Given the description of an element on the screen output the (x, y) to click on. 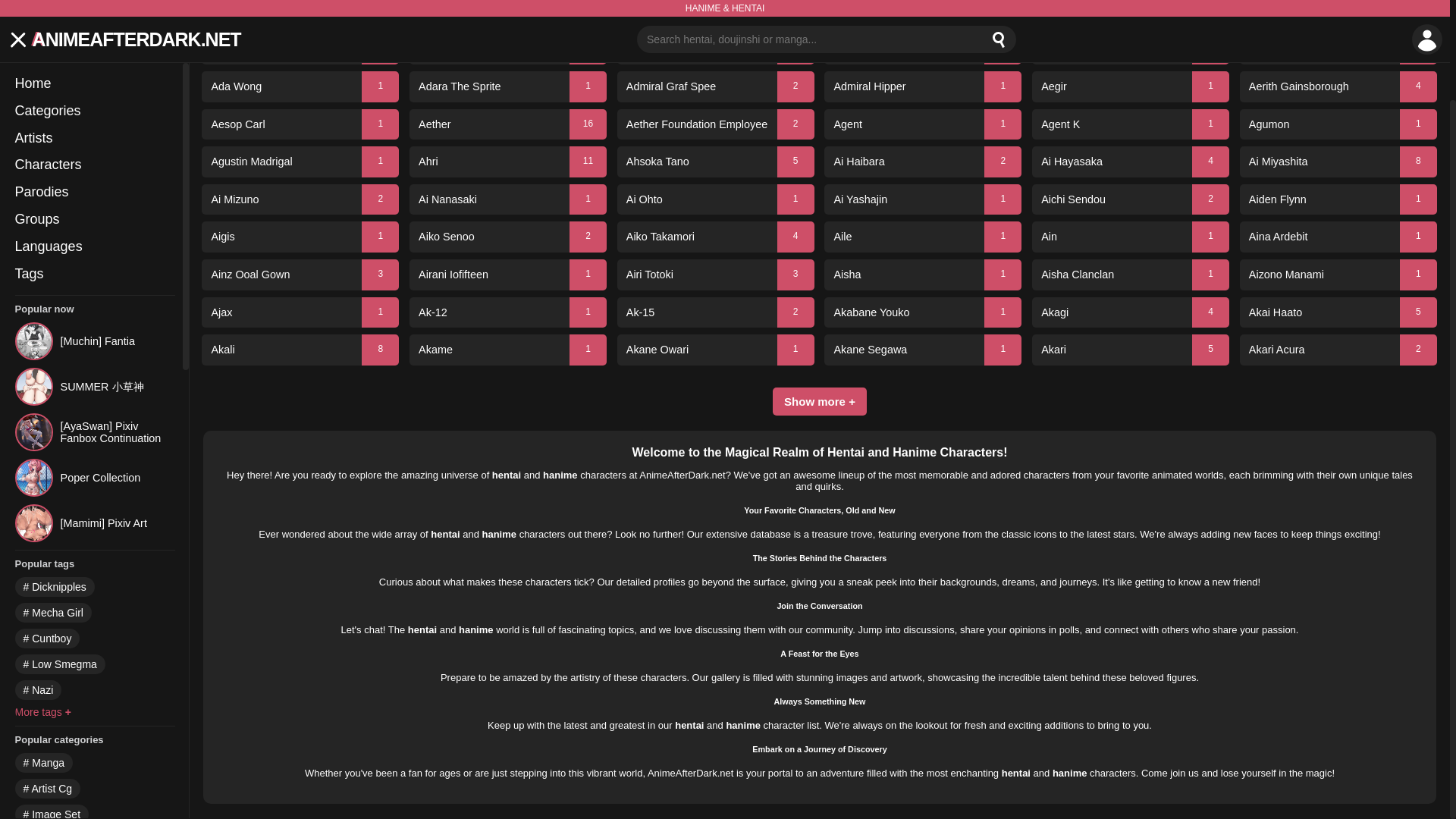
More categories (57, 774)
Dicknipples (54, 473)
Groups (94, 105)
Artists (94, 24)
Characters (94, 51)
Poper Collection (94, 363)
Tags (94, 160)
Languages (94, 133)
Low Smegma (59, 550)
Tags (94, 160)
